Given the description of an element on the screen output the (x, y) to click on. 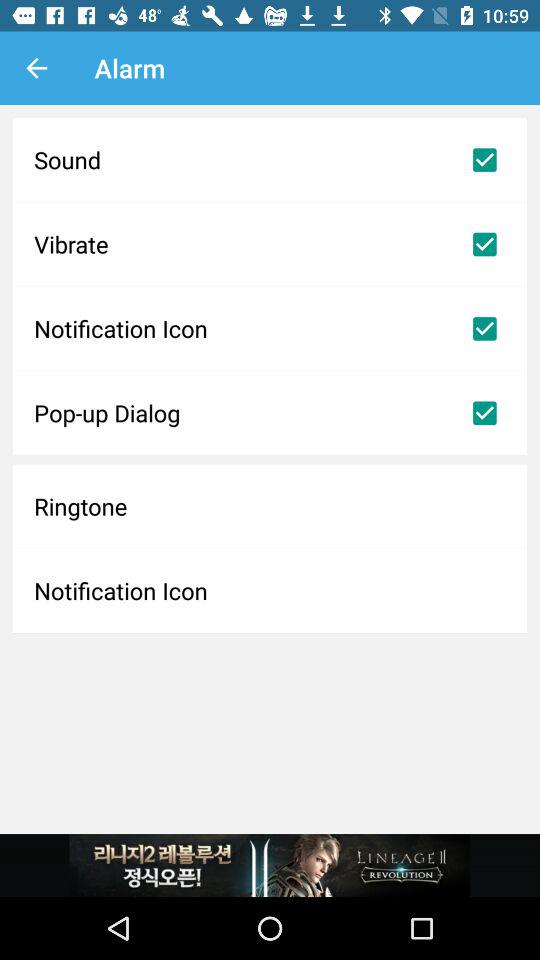
scroll to the pop-up dialog icon (269, 413)
